Given the description of an element on the screen output the (x, y) to click on. 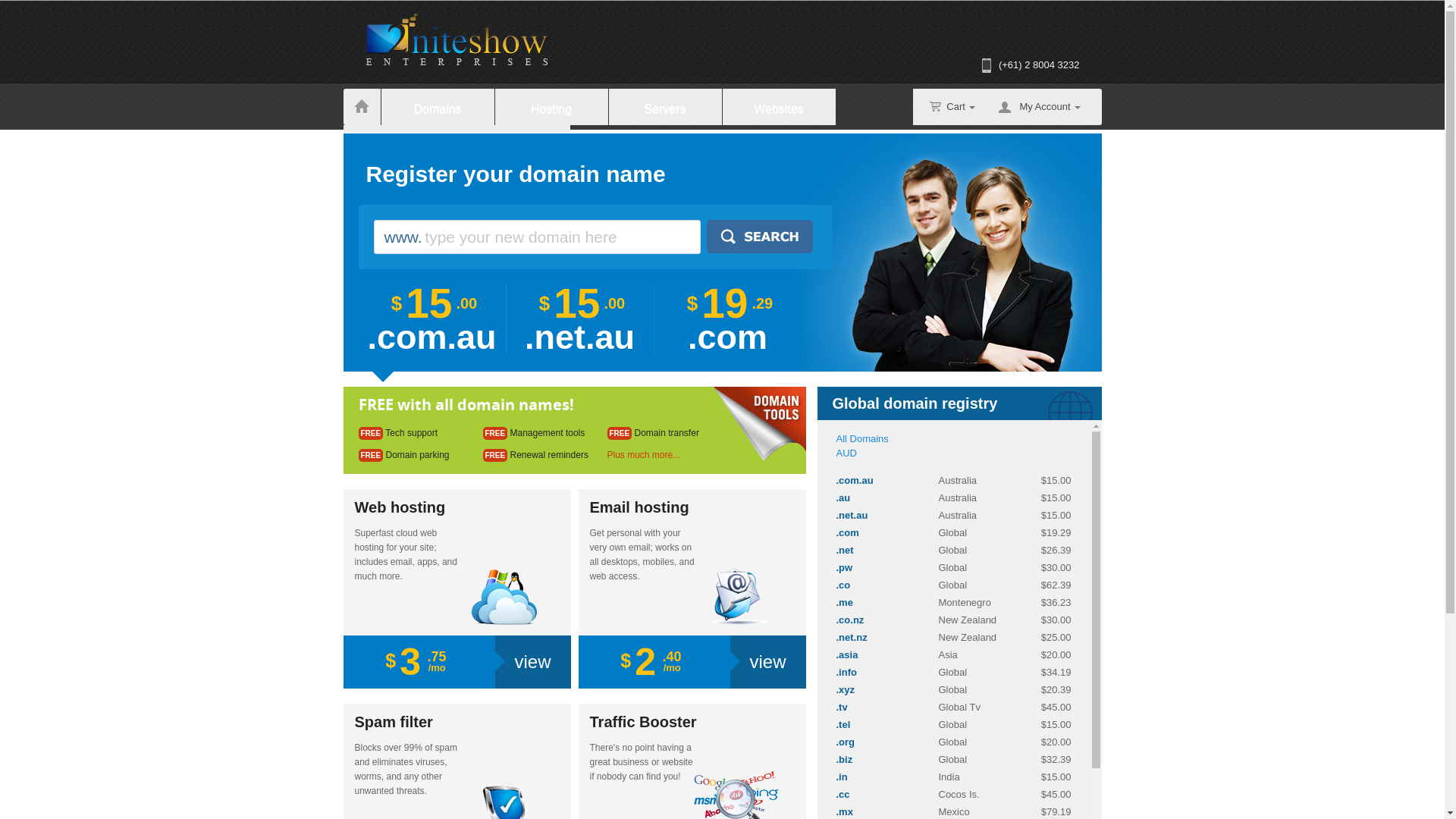
Websites Element type: text (777, 106)
Servers Element type: text (664, 106)
Spam filter Element type: text (456, 722)
Home Element type: text (360, 106)
AUD Element type: text (845, 452)
Search Element type: text (759, 236)
Email hosting Element type: text (691, 507)
Domains Element type: text (436, 106)
Web hosting Element type: text (456, 507)
view Element type: text (532, 661)
Hosting Element type: text (550, 106)
All Domains Element type: text (861, 438)
Logo Element type: hover (457, 38)
Cart Element type: text (951, 106)
Marketing Element type: text (399, 143)
Packages Element type: text (512, 143)
Traffic Booster Element type: text (691, 722)
My Account Element type: text (1049, 106)
view Element type: text (767, 661)
